Given the description of an element on the screen output the (x, y) to click on. 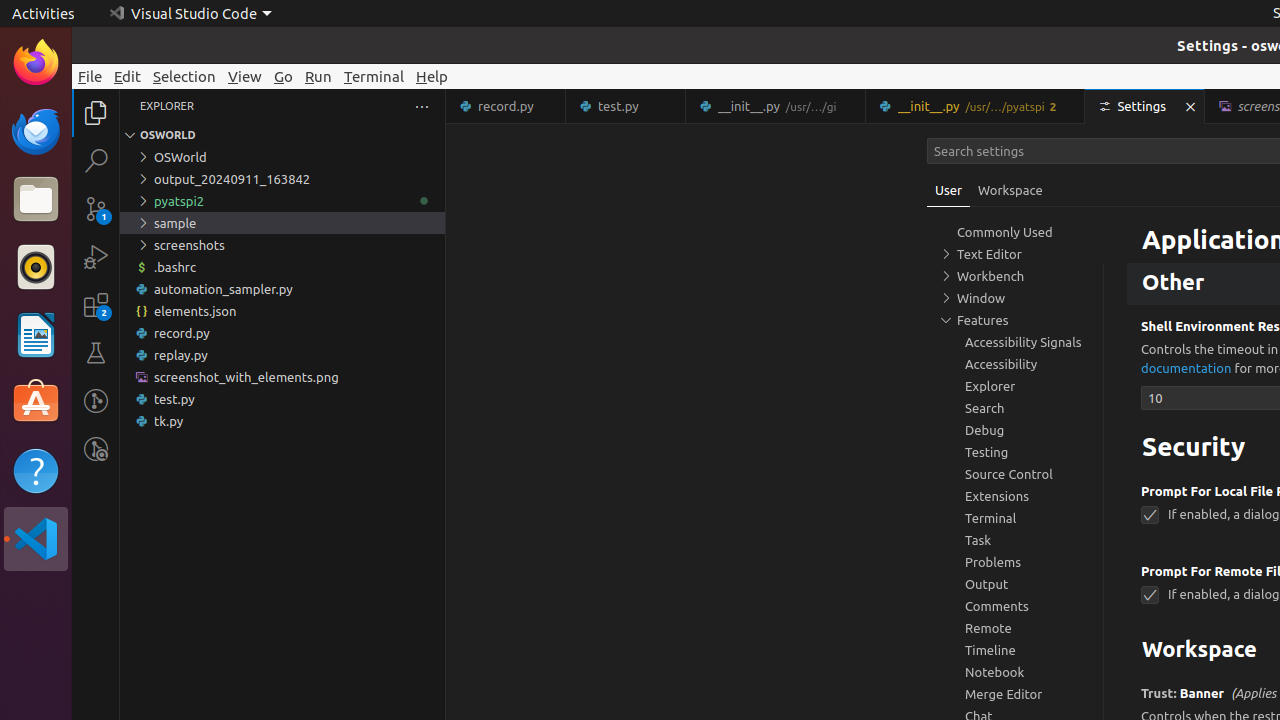
Accessibility, group Element type: tree-item (1015, 364)
Problems, group Element type: tree-item (1015, 562)
Text Editor, group Element type: tree-item (1015, 254)
replay.py Element type: tree-item (282, 355)
documentation Element type: link (1186, 367)
